Given the description of an element on the screen output the (x, y) to click on. 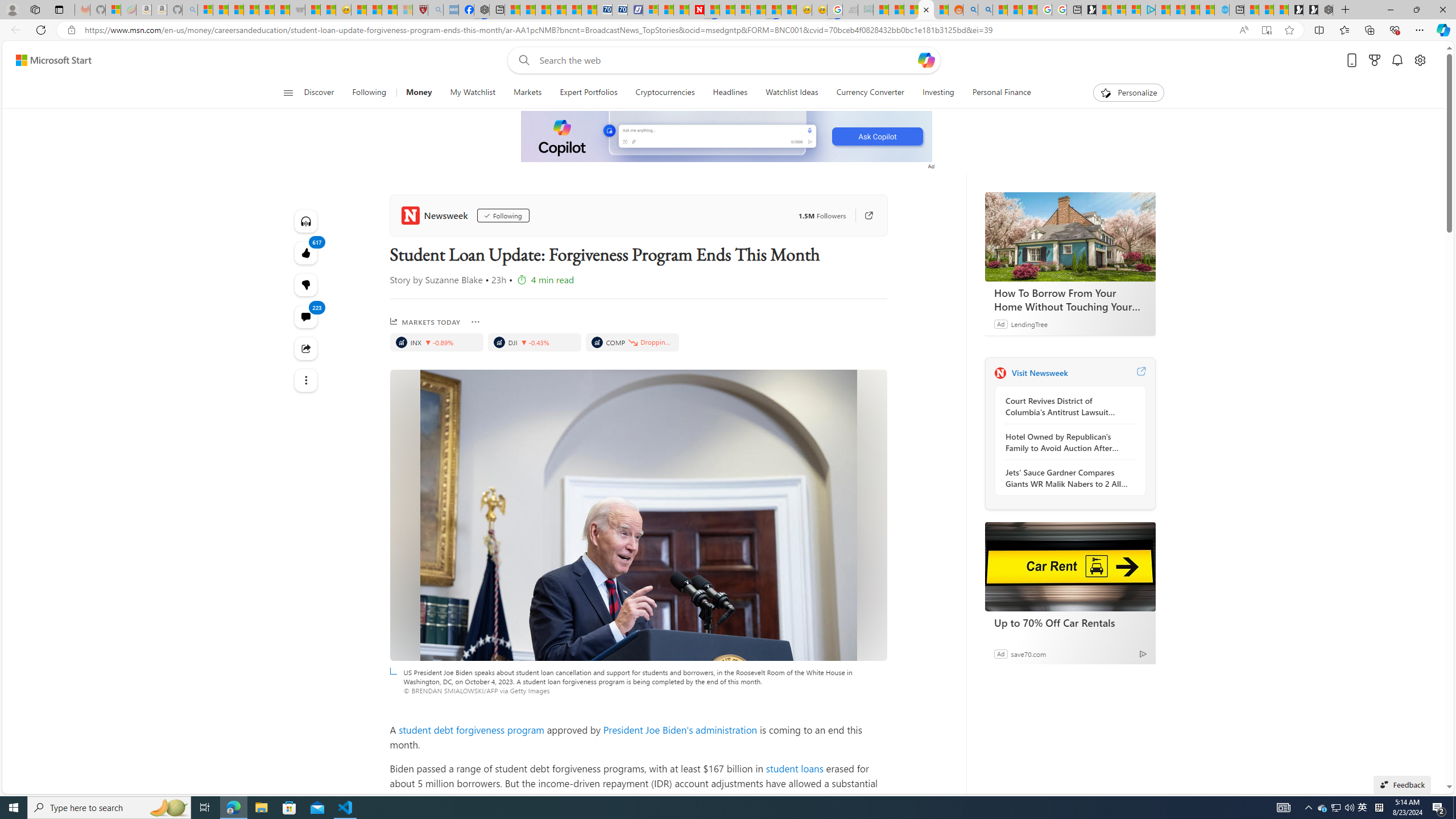
Listen to this article (305, 220)
View comments 223 Comment (305, 316)
The Weather Channel - MSN (236, 9)
Class: at-item (305, 380)
